Given the description of an element on the screen output the (x, y) to click on. 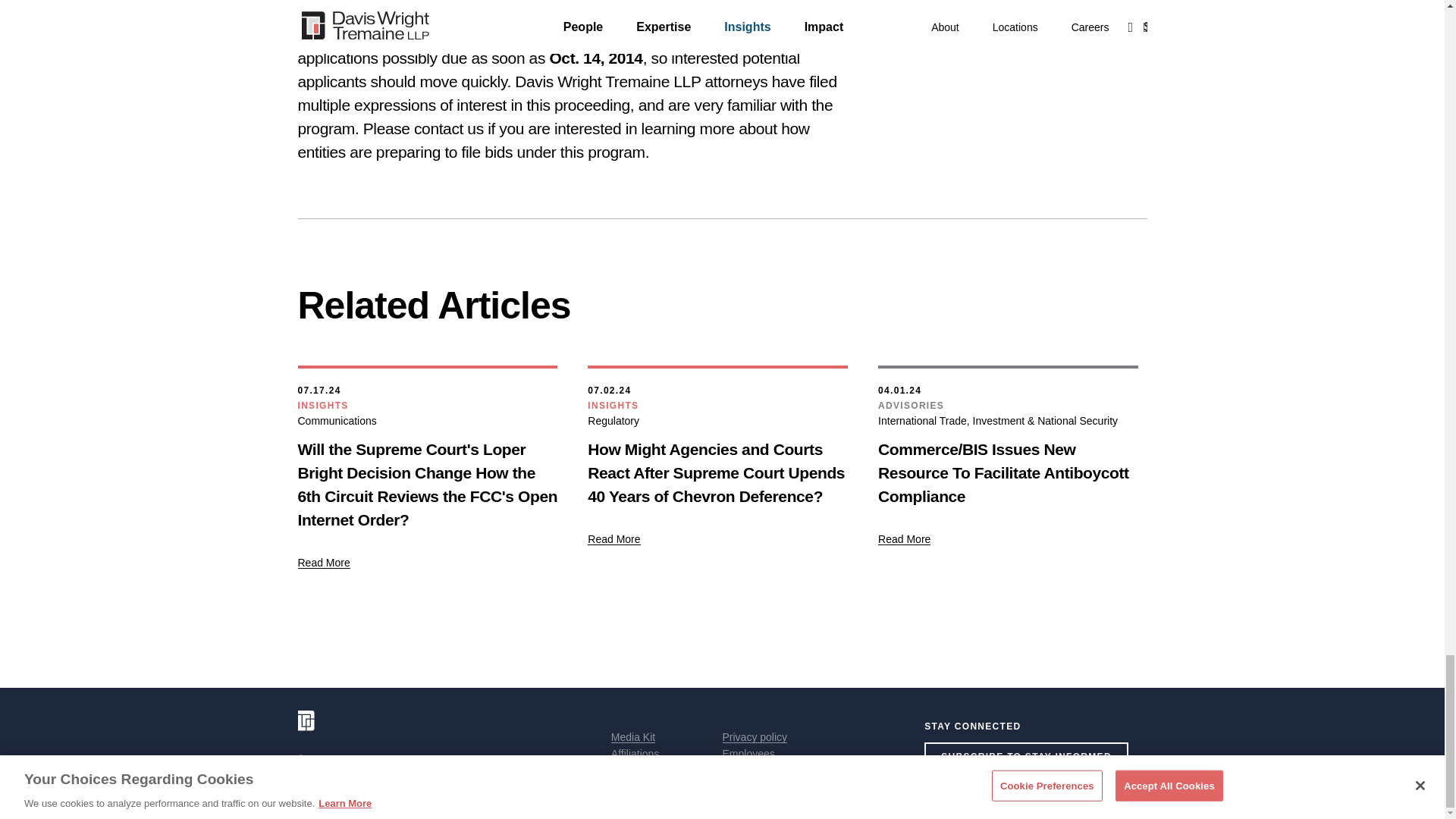
Affiliations (635, 753)
Privacy policy (754, 736)
Cookie Preferences (657, 787)
Media Kit (633, 736)
Employees (748, 753)
Read More (614, 538)
Read More (903, 538)
Read More (323, 562)
